Given the description of an element on the screen output the (x, y) to click on. 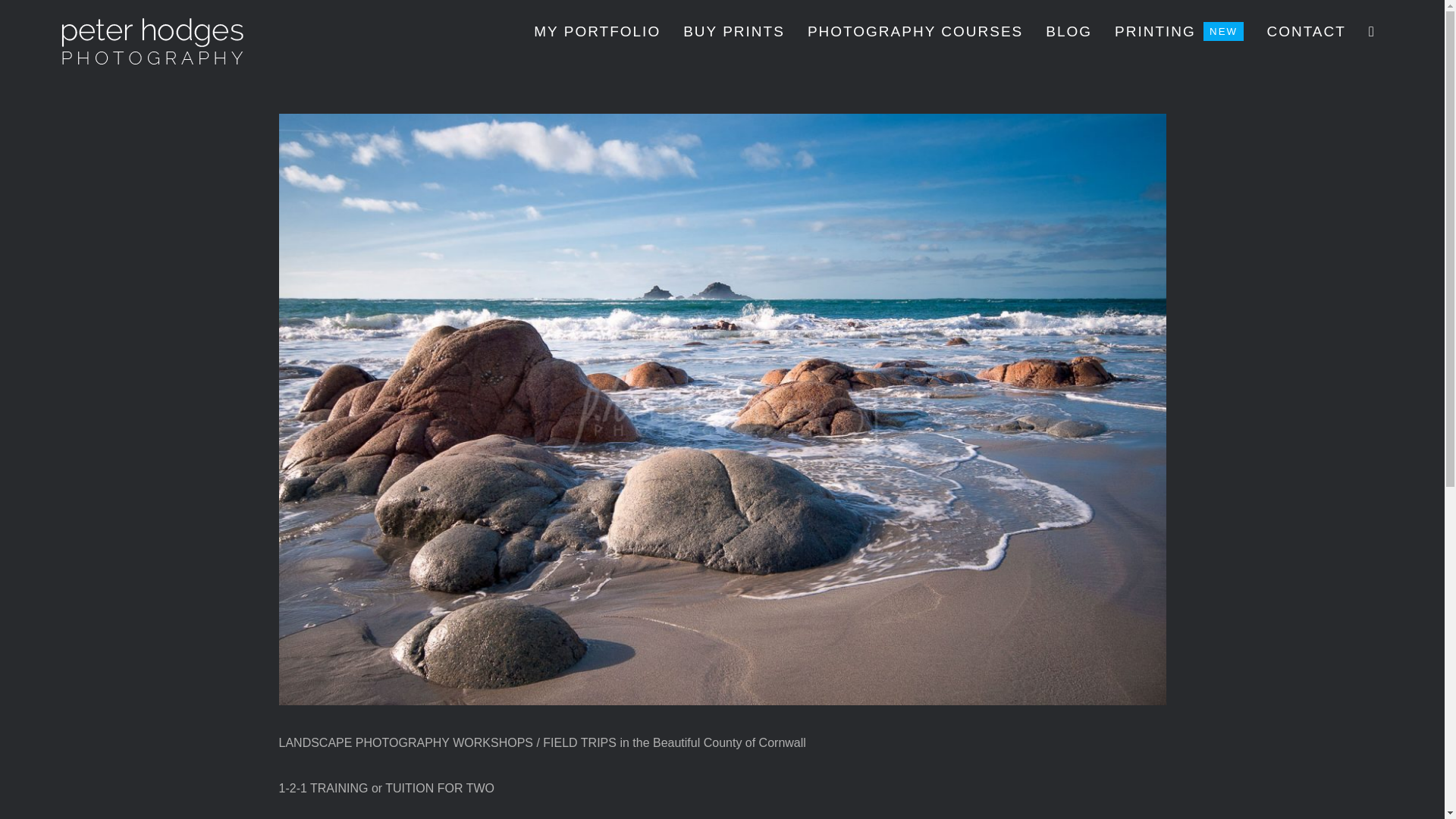
BUY PRINTS (733, 31)
CONTACT (1305, 31)
PHOTOGRAPHY COURSES (915, 31)
MY PORTFOLIO (1179, 31)
View Larger Image (597, 31)
